Given the description of an element on the screen output the (x, y) to click on. 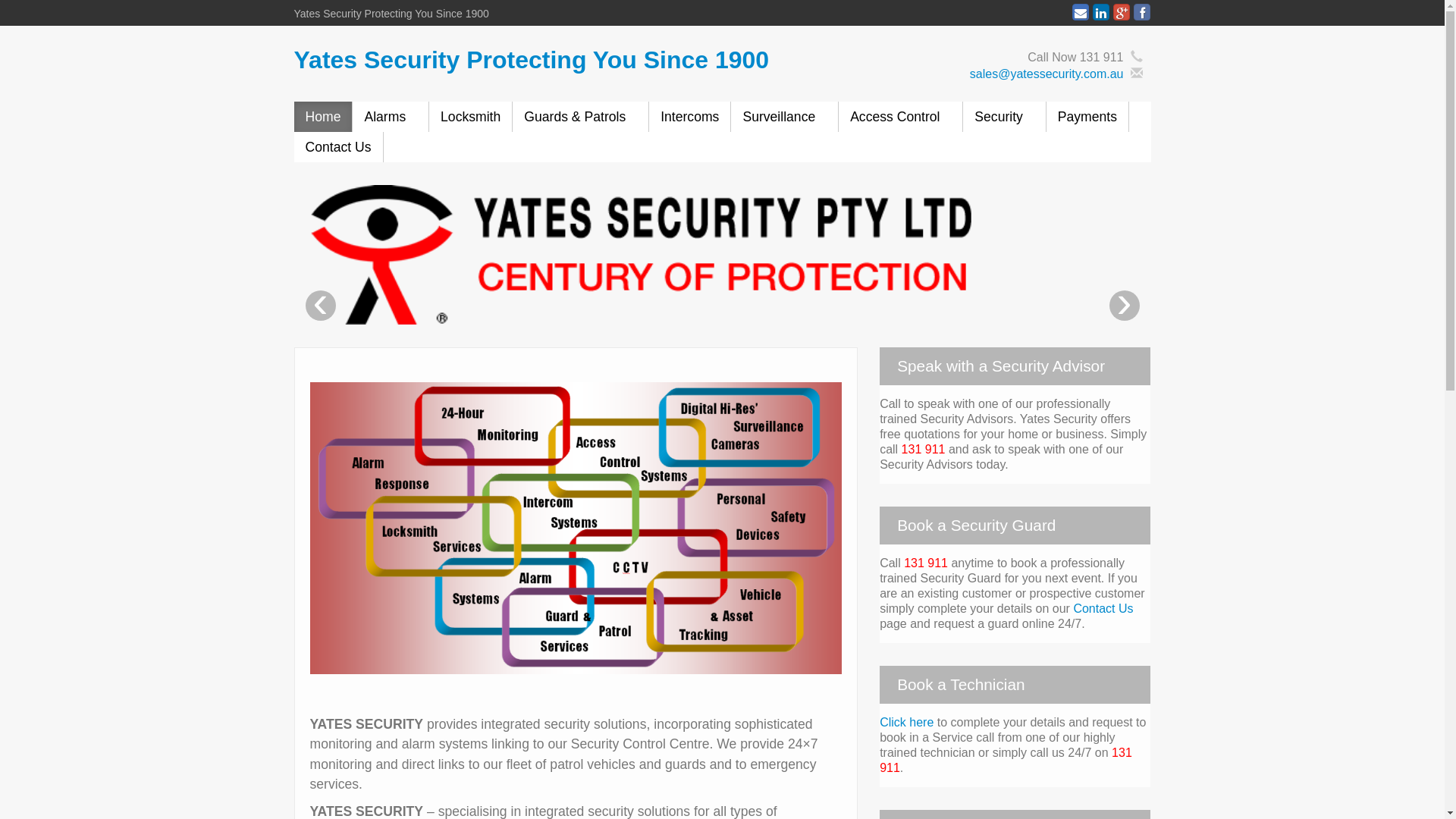
Alarms Element type: text (390, 116)
Locksmith Element type: text (470, 116)
Home Element type: text (323, 116)
Surveillance Element type: text (784, 116)
Intercoms Element type: text (689, 116)
Yates Security Protecting You Since 1900 Element type: text (531, 59)
Yates Security Protecting You Since 1900 Email Element type: hover (1080, 11)
Contact Us Element type: text (1102, 608)
Contact Us Element type: text (338, 146)
Payments Element type: text (1087, 116)
Security Element type: text (1003, 116)
Access Control Element type: text (900, 116)
Click here Element type: text (906, 721)
Yates Security Protecting You Since 1900 Linkedin Element type: hover (1100, 11)
sales@yatessecurity.com.au Element type: text (1046, 73)
Yates Security Protecting You Since 1900 Facebook Element type: hover (1141, 11)
Yates Security Protecting You Since 1900 Googleplus Element type: hover (1121, 11)
Guards & Patrols Element type: text (580, 116)
